Given the description of an element on the screen output the (x, y) to click on. 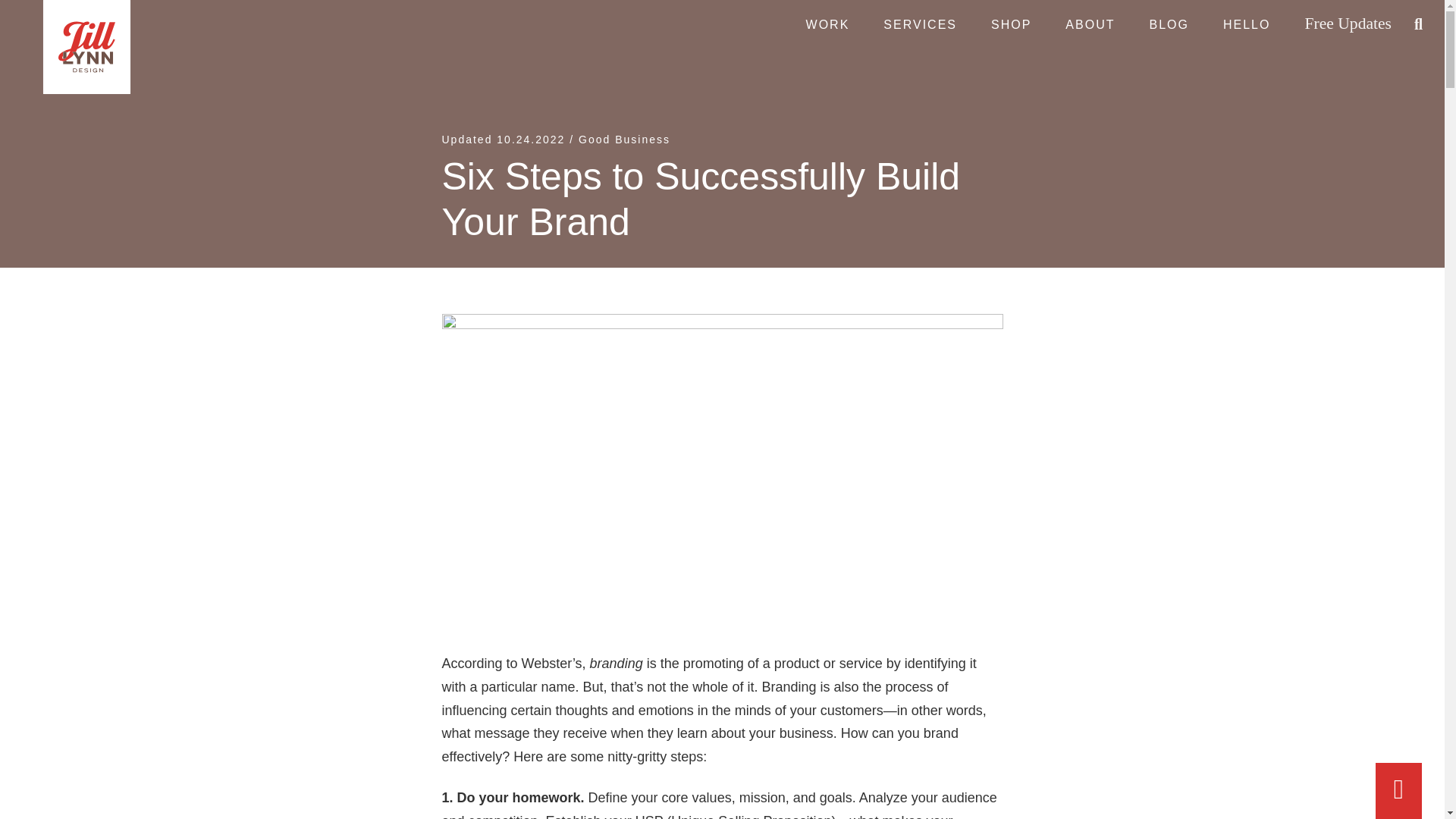
Free Updates (1347, 23)
HELLO (1246, 24)
ABOUT (1089, 24)
SHOP (1010, 24)
Good Business (623, 139)
SERVICES (919, 24)
Search (56, 22)
BLOG (1169, 24)
WORK (827, 24)
